Given the description of an element on the screen output the (x, y) to click on. 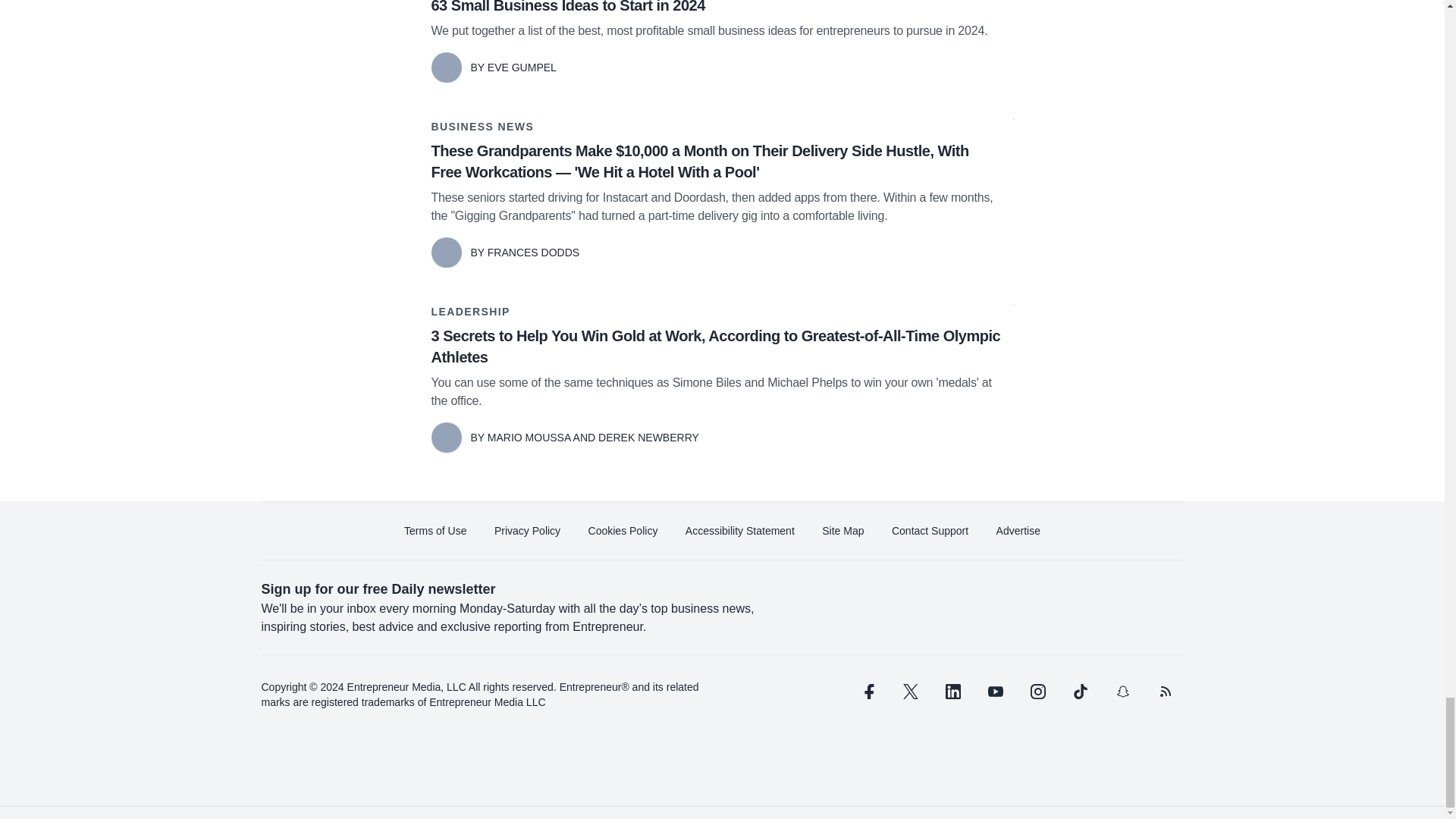
facebook (866, 691)
twitter (909, 691)
youtube (994, 691)
instagram (1037, 691)
tiktok (1079, 691)
linkedin (952, 691)
snapchat (1121, 691)
